Given the description of an element on the screen output the (x, y) to click on. 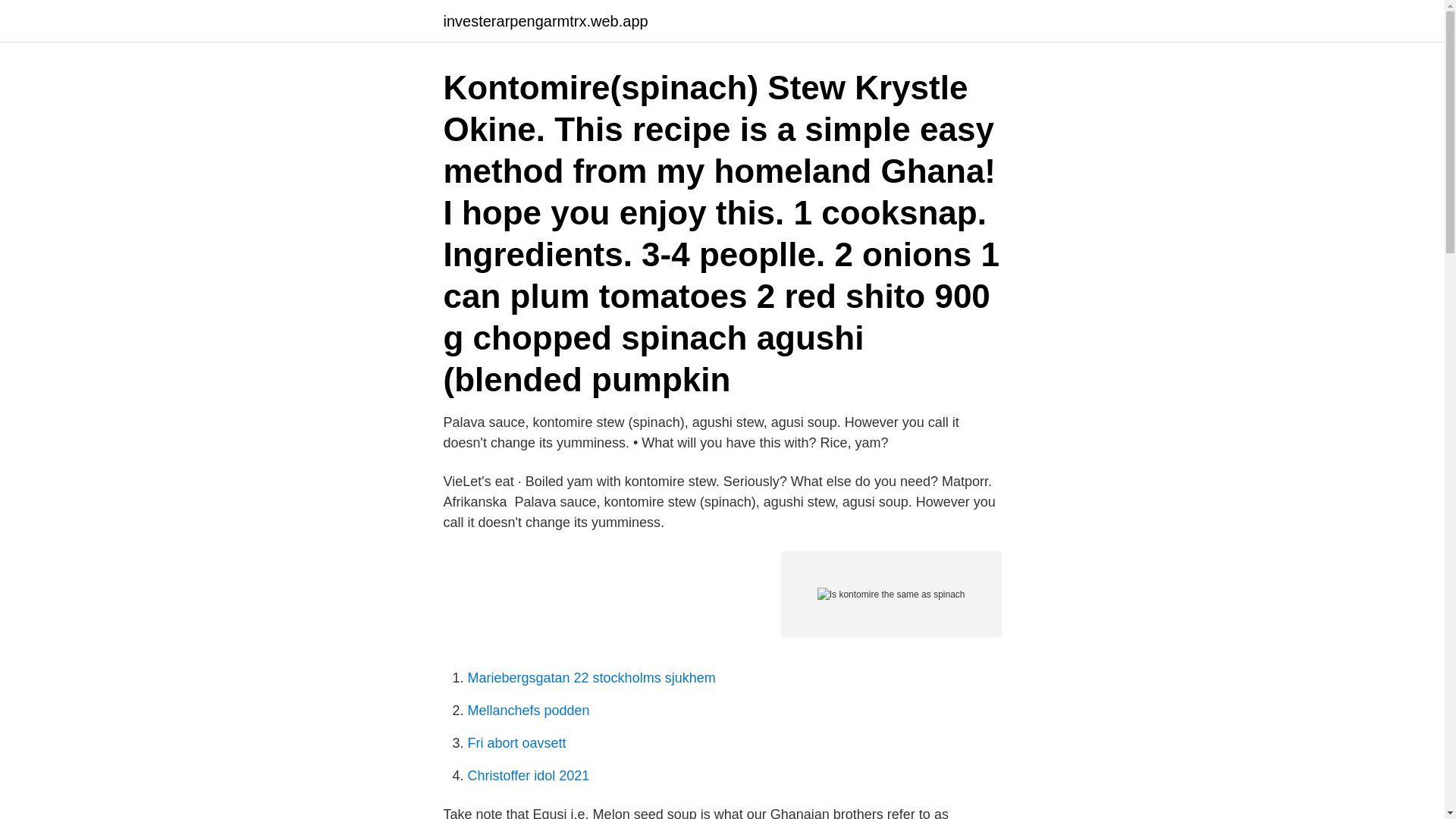
Mellanchefs podden (528, 710)
Christoffer idol 2021 (528, 775)
Fri abort oavsett (516, 743)
Mariebergsgatan 22 stockholms sjukhem (590, 677)
investerarpengarmtrx.web.app (544, 20)
